Given the description of an element on the screen output the (x, y) to click on. 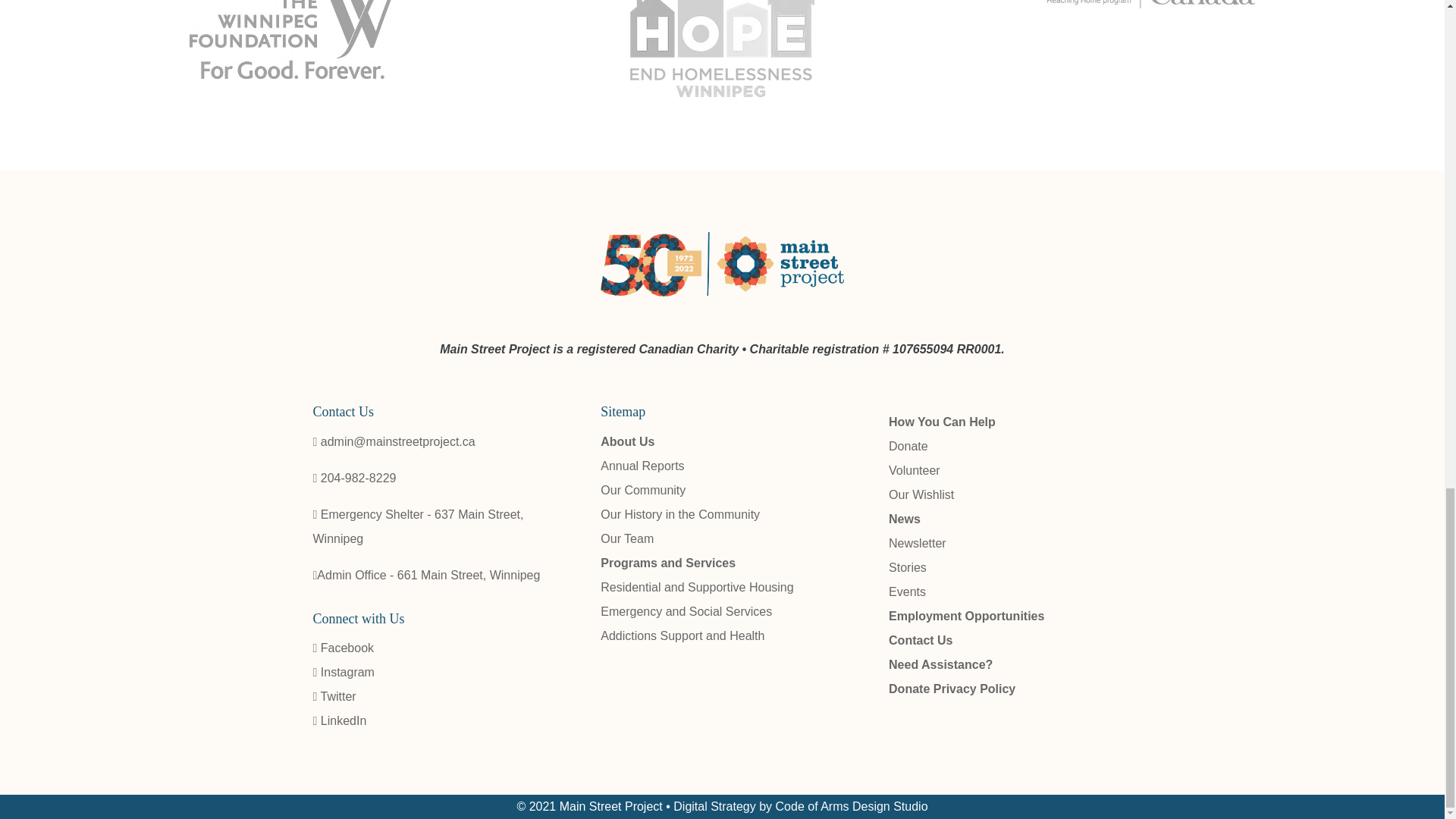
Main Street Project (721, 291)
Logo-Canada-Reaching-Home.jpeg (1150, 4)
Logo-End-Homelessness-Winnipeg-2023.png (722, 54)
